Given the description of an element on the screen output the (x, y) to click on. 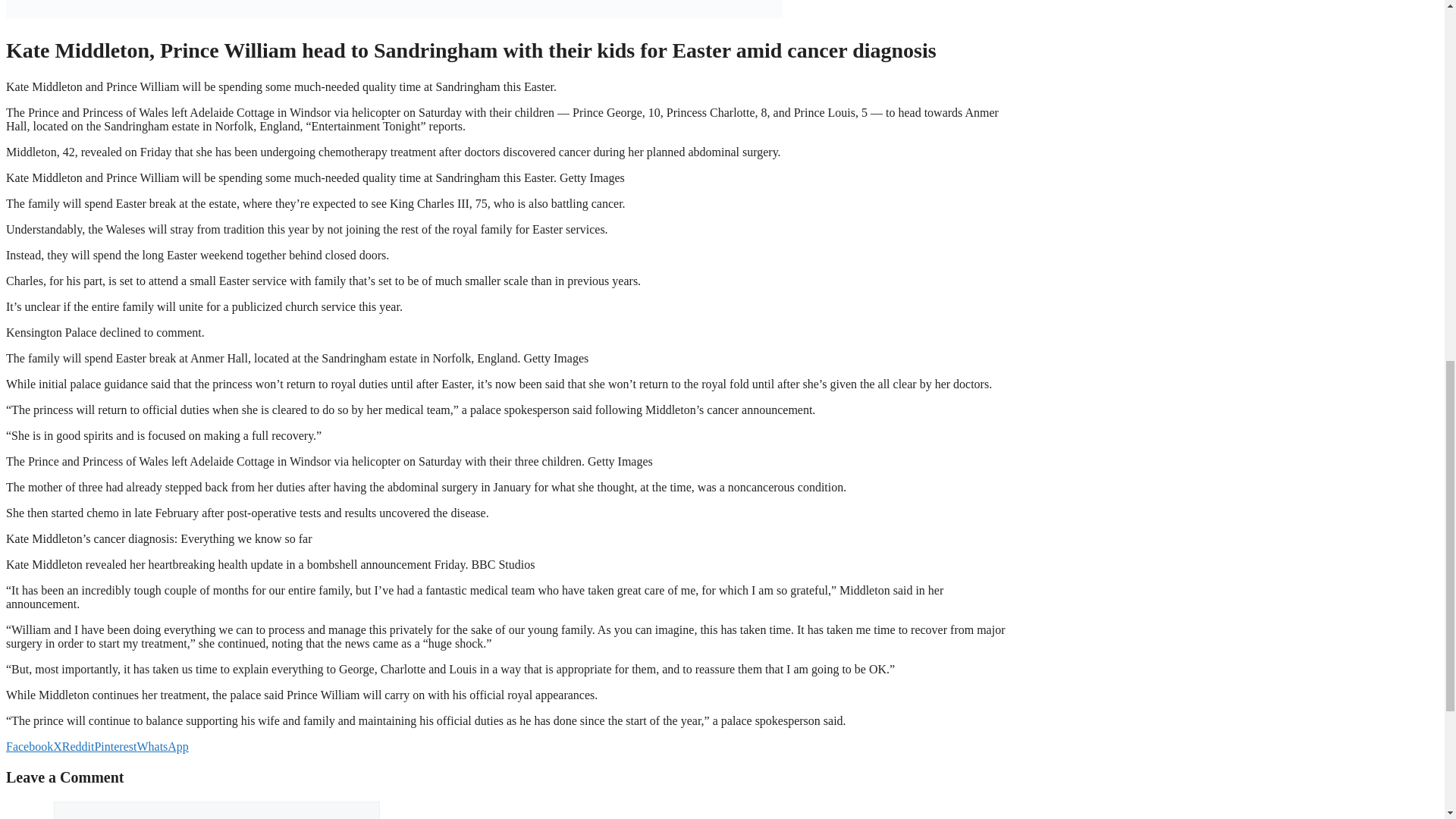
Pinterest (115, 746)
Reddit (78, 746)
Facebook (28, 746)
WhatsApp (161, 746)
Scroll back to top (1406, 720)
